Given the description of an element on the screen output the (x, y) to click on. 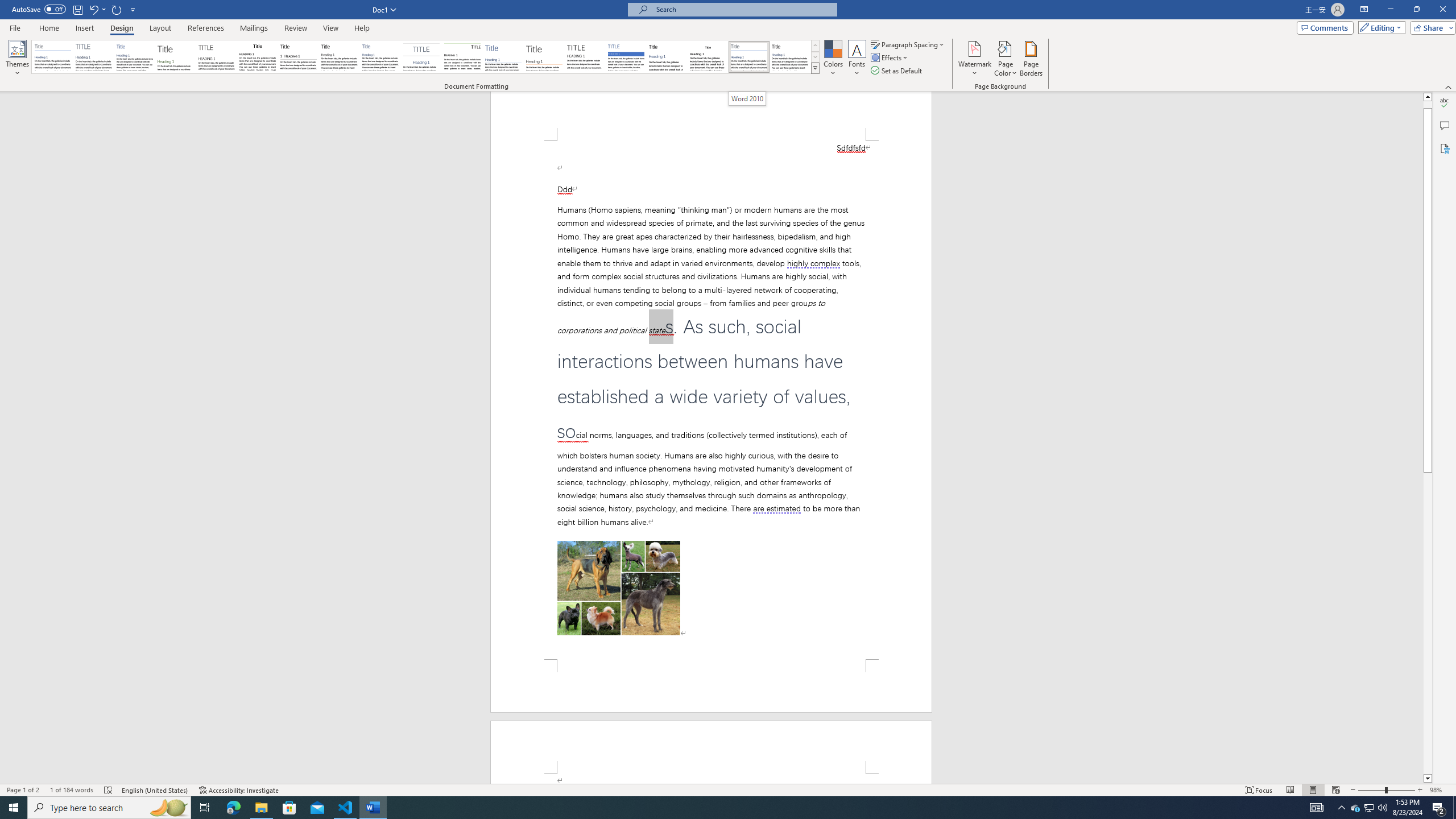
Style Set (814, 67)
Shaded (625, 56)
Page 2 content (710, 778)
Lines (Distinctive) (462, 56)
Morphological variation in six dogs (618, 587)
